Given the description of an element on the screen output the (x, y) to click on. 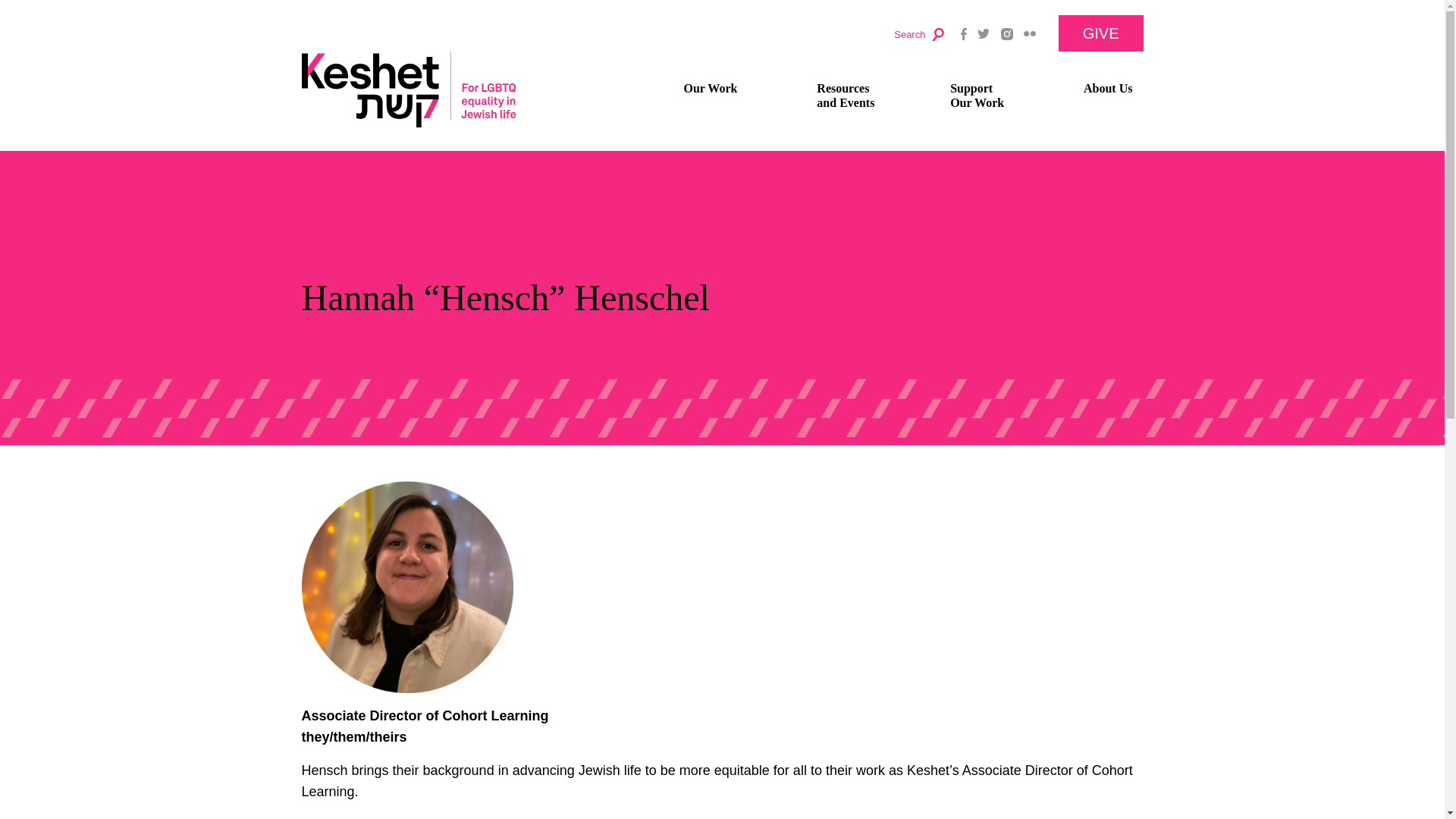
Our Work (860, 95)
About Us (994, 95)
Search (728, 88)
GIVE (1107, 88)
